Given the description of an element on the screen output the (x, y) to click on. 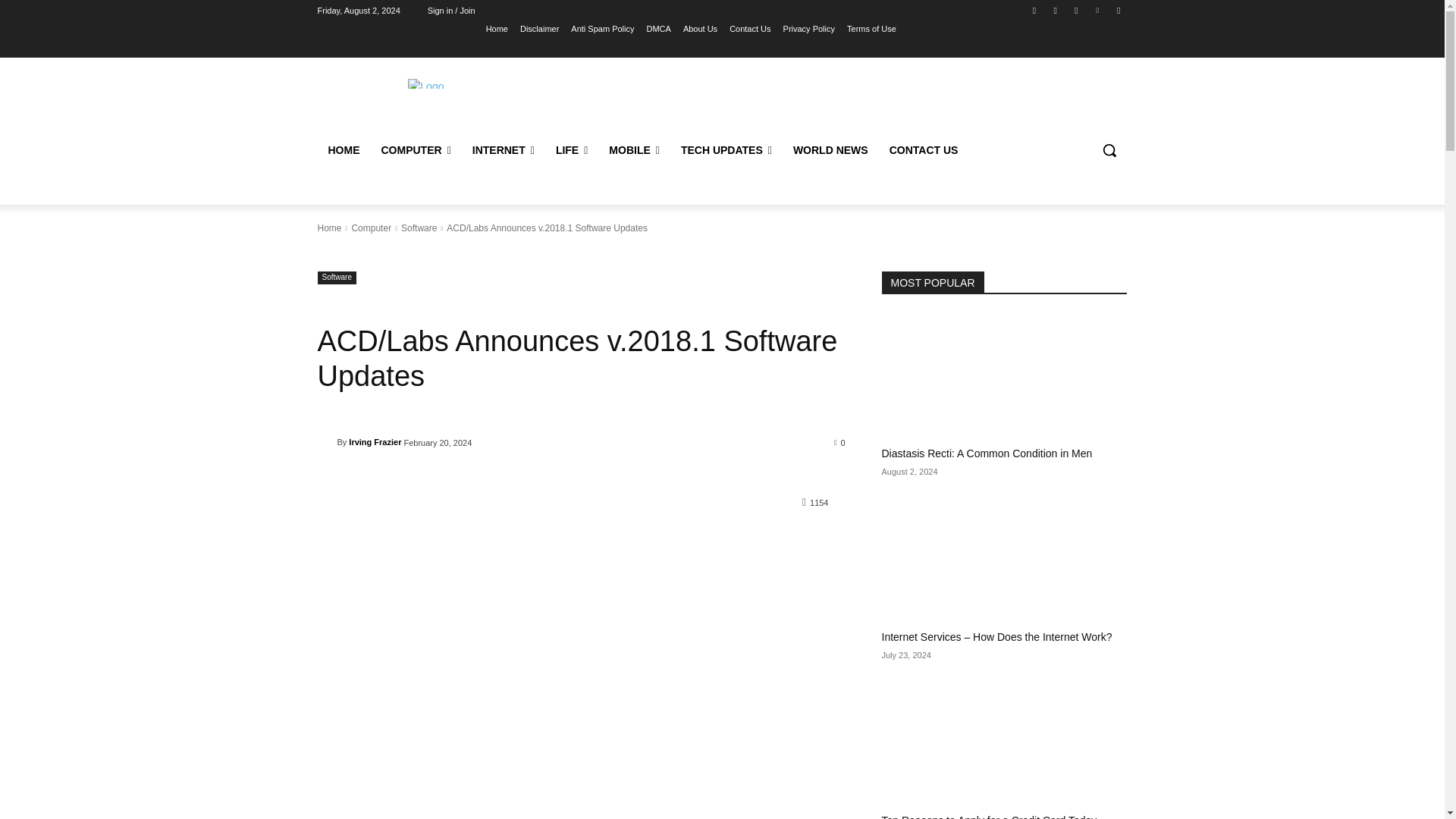
Vimeo (1097, 9)
Disclaimer (539, 28)
Irving Frazier (326, 441)
Home (497, 28)
View all posts in Computer (370, 227)
View all posts in Software (418, 227)
Instagram (1055, 9)
Facebook (1034, 9)
Anti Spam Policy (601, 28)
Youtube (1117, 9)
Twitter (1075, 9)
